Given the description of an element on the screen output the (x, y) to click on. 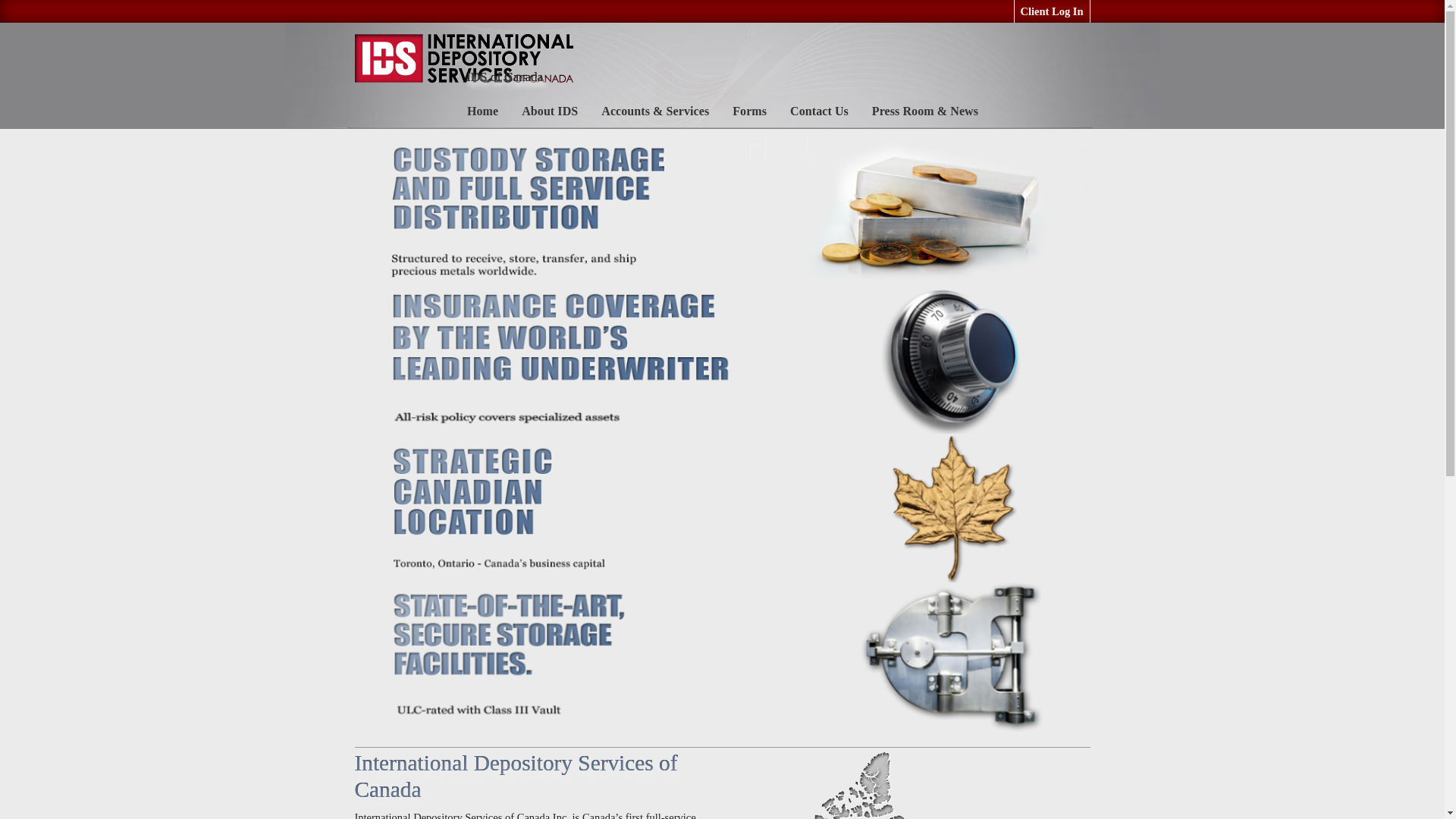
Corporate Accounts (654, 140)
About IDS (550, 110)
Home (482, 110)
Individual Accounts (654, 164)
IDS of Canada (504, 76)
Client Log In (1051, 11)
F A Qs (550, 164)
S e c u r i t y (550, 140)
Forms (748, 110)
Contact Us (819, 110)
IDS of Canada (464, 58)
